Given the description of an element on the screen output the (x, y) to click on. 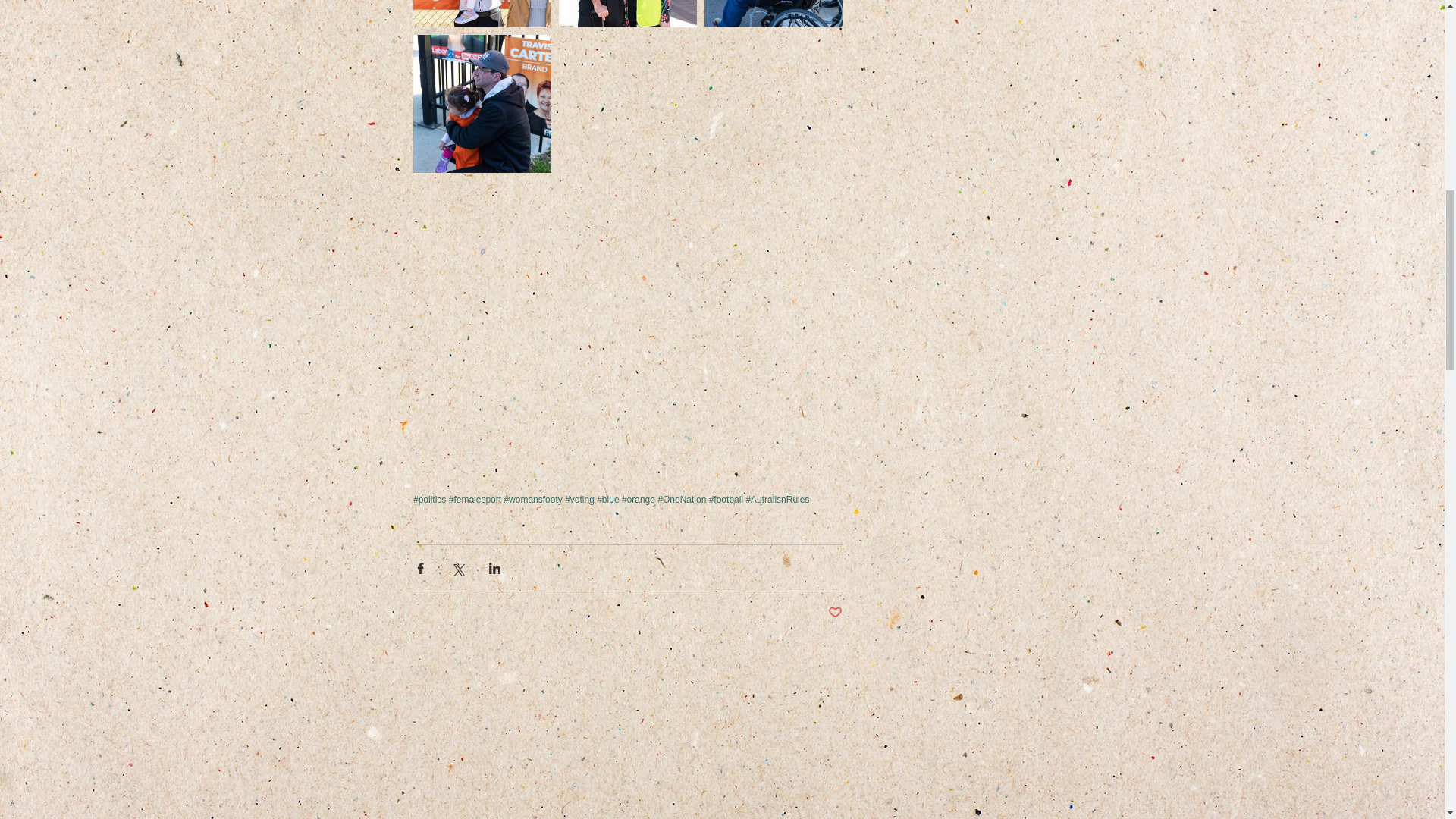
Post not marked as liked (835, 612)
